Given the description of an element on the screen output the (x, y) to click on. 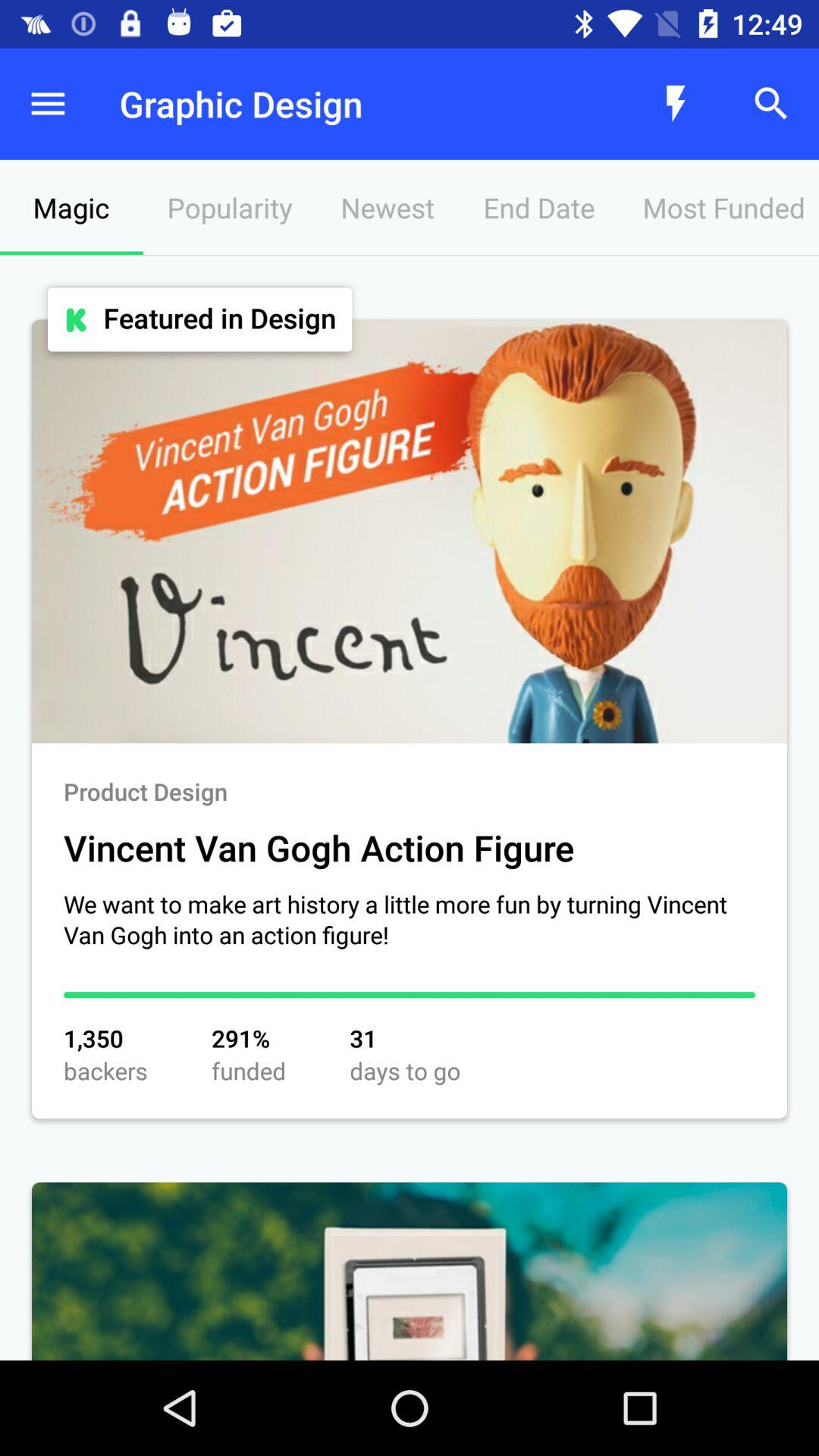
turn on item next to the graphic design (47, 103)
